Given the description of an element on the screen output the (x, y) to click on. 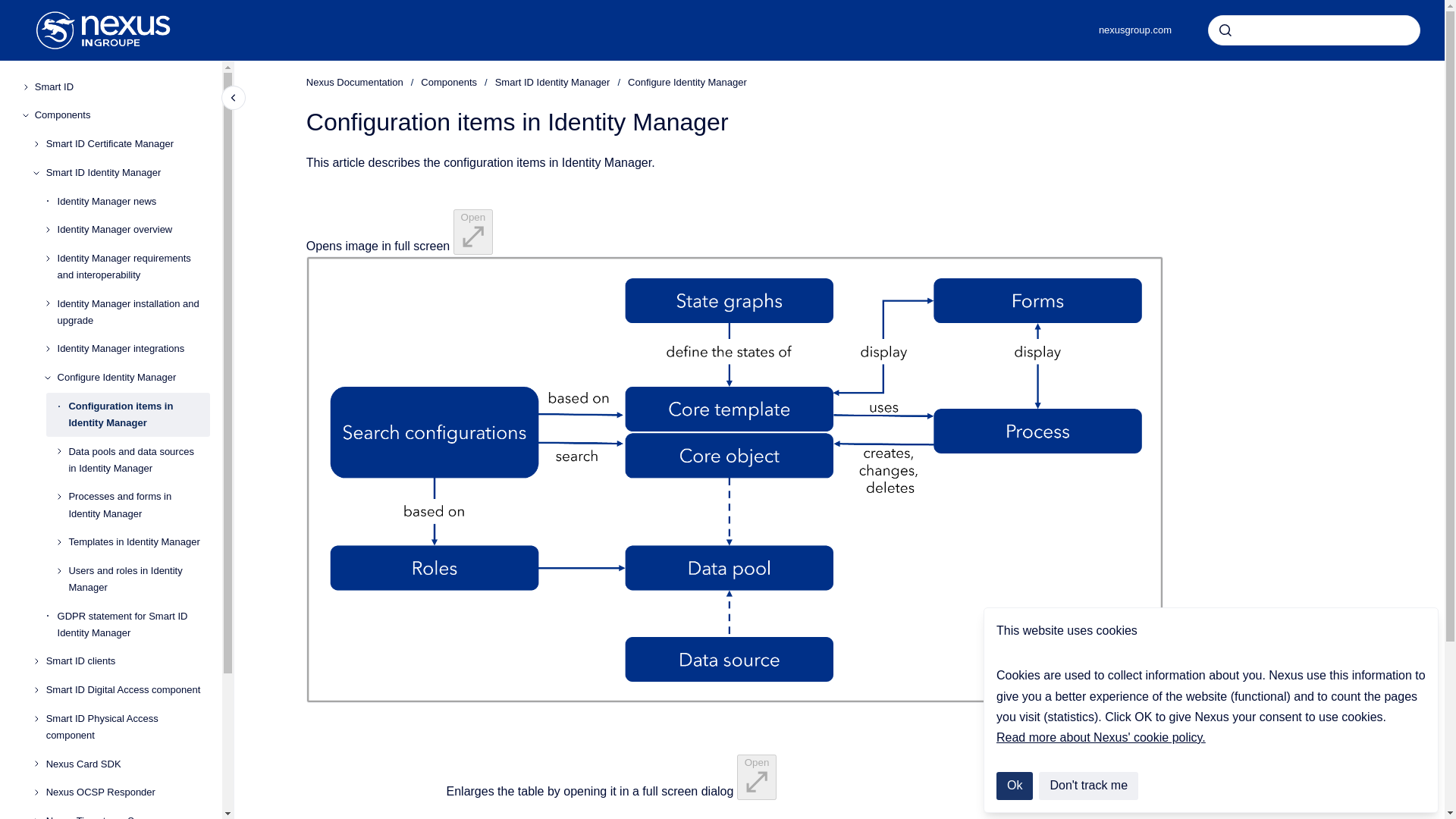
Identity Manager news (133, 201)
Configure Identity Manager (133, 377)
Identity Manager installation and upgrade (133, 312)
Components (121, 115)
GDPR statement for Smart ID Identity Manager (133, 624)
Smart ID (121, 86)
Processes and forms in Identity Manager (138, 505)
Go to homepage (103, 30)
Templates in Identity Manager (138, 542)
Smart ID Certificate Manager (127, 144)
Identity Manager integrations (133, 349)
Users and roles in Identity Manager (138, 579)
Read more about Nexus' cookie policy. (1100, 737)
Smart ID Identity Manager (127, 172)
Configuration items in Identity Manager (138, 414)
